Given the description of an element on the screen output the (x, y) to click on. 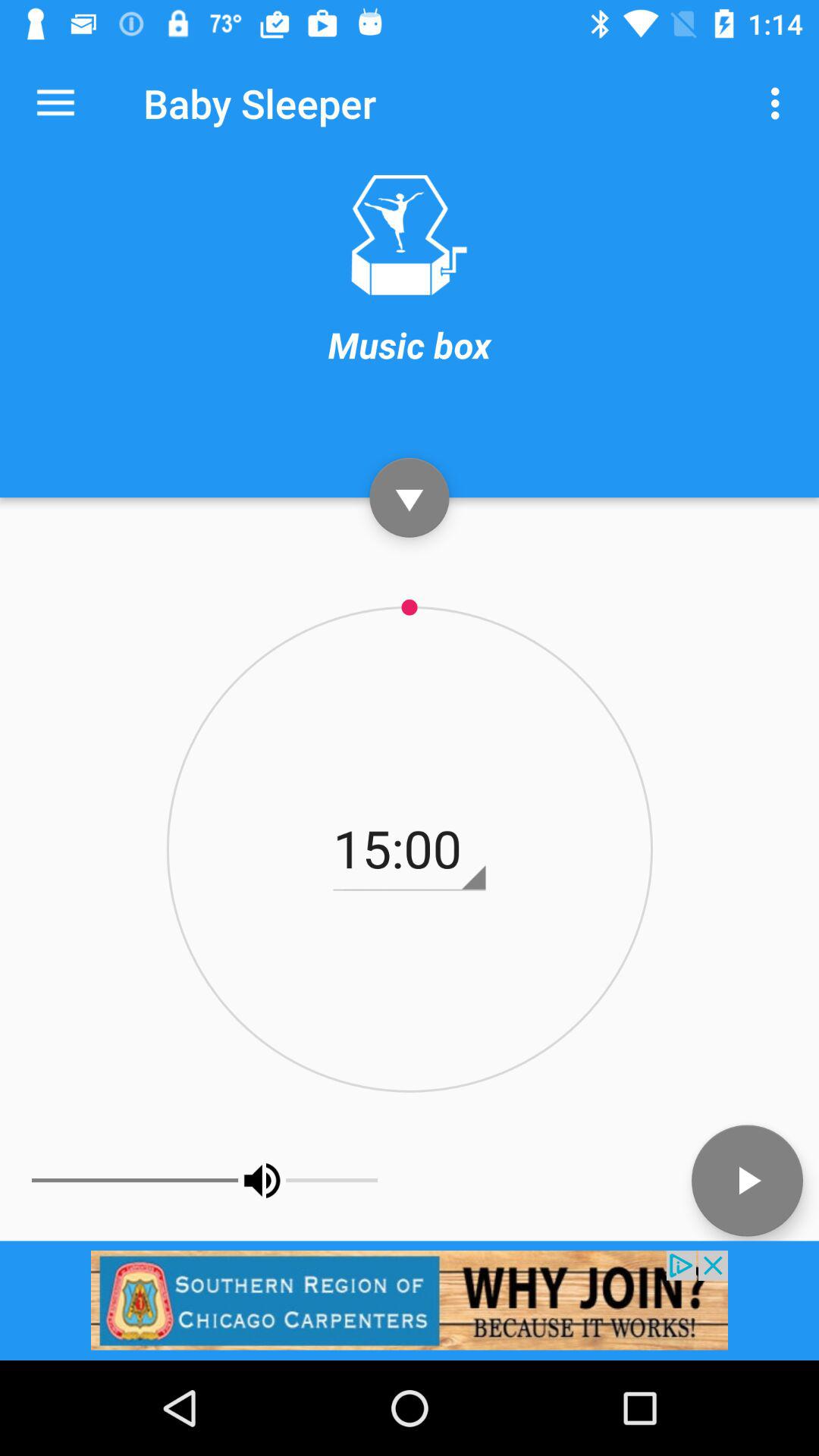
play button (747, 1180)
